Given the description of an element on the screen output the (x, y) to click on. 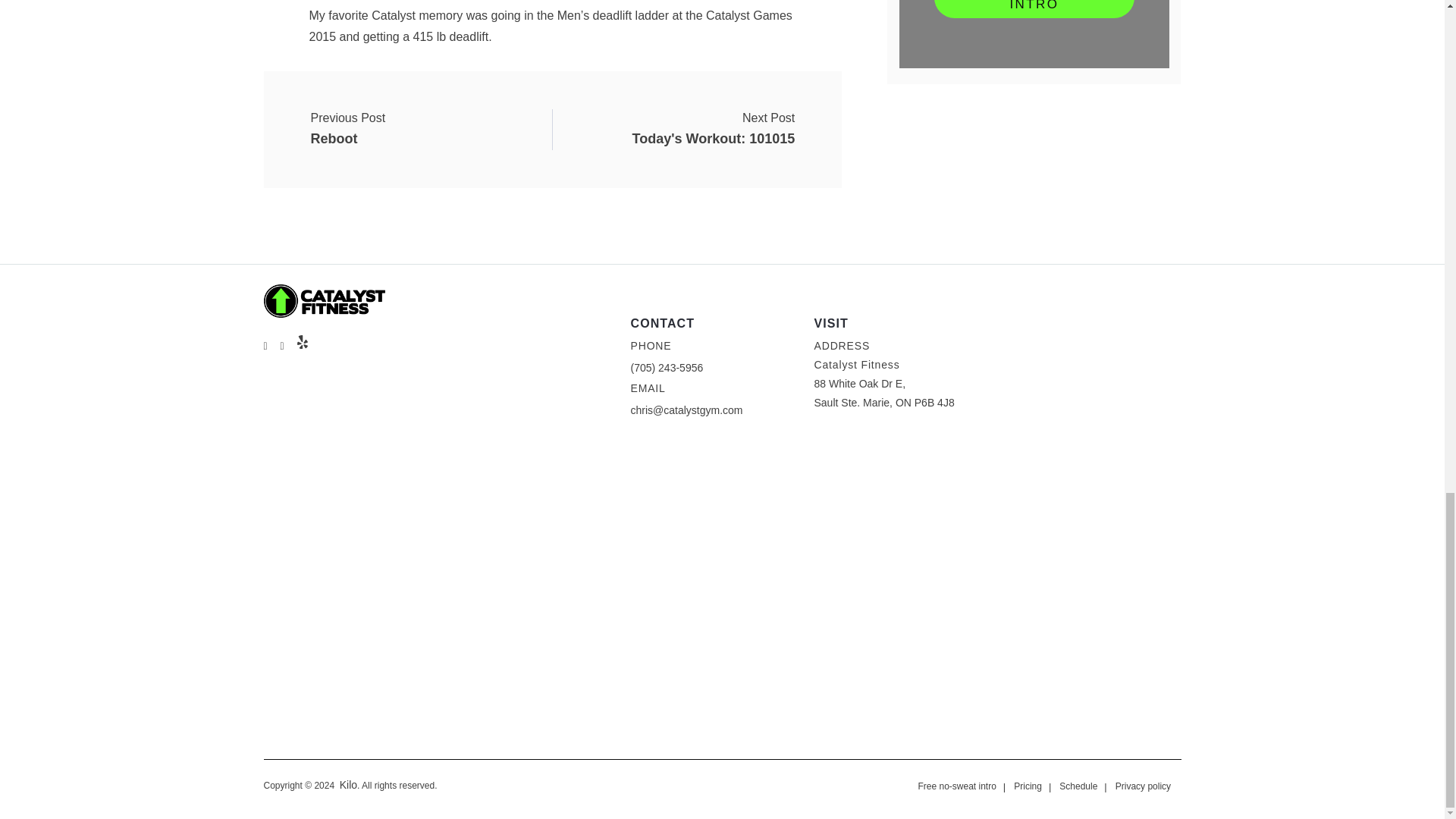
FREE NO-SWEAT INTRO (1034, 9)
Reboot (348, 129)
Today's Workout: 101015 (348, 129)
